Given the description of an element on the screen output the (x, y) to click on. 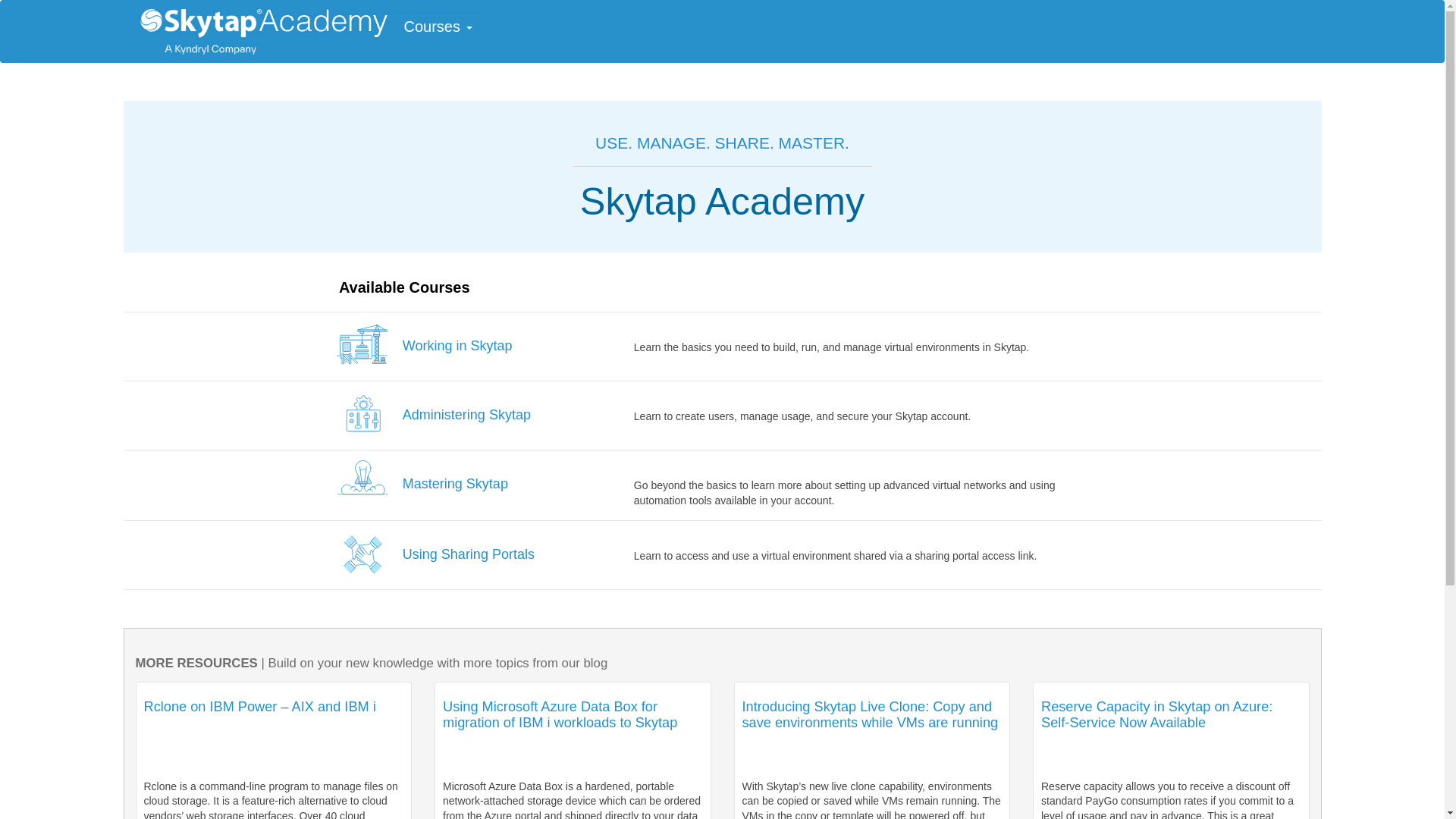
Courses (438, 26)
Mastering Skytap (455, 483)
Using Sharing Portals (468, 554)
Administering Skytap (467, 414)
Working in Skytap (457, 345)
